Given the description of an element on the screen output the (x, y) to click on. 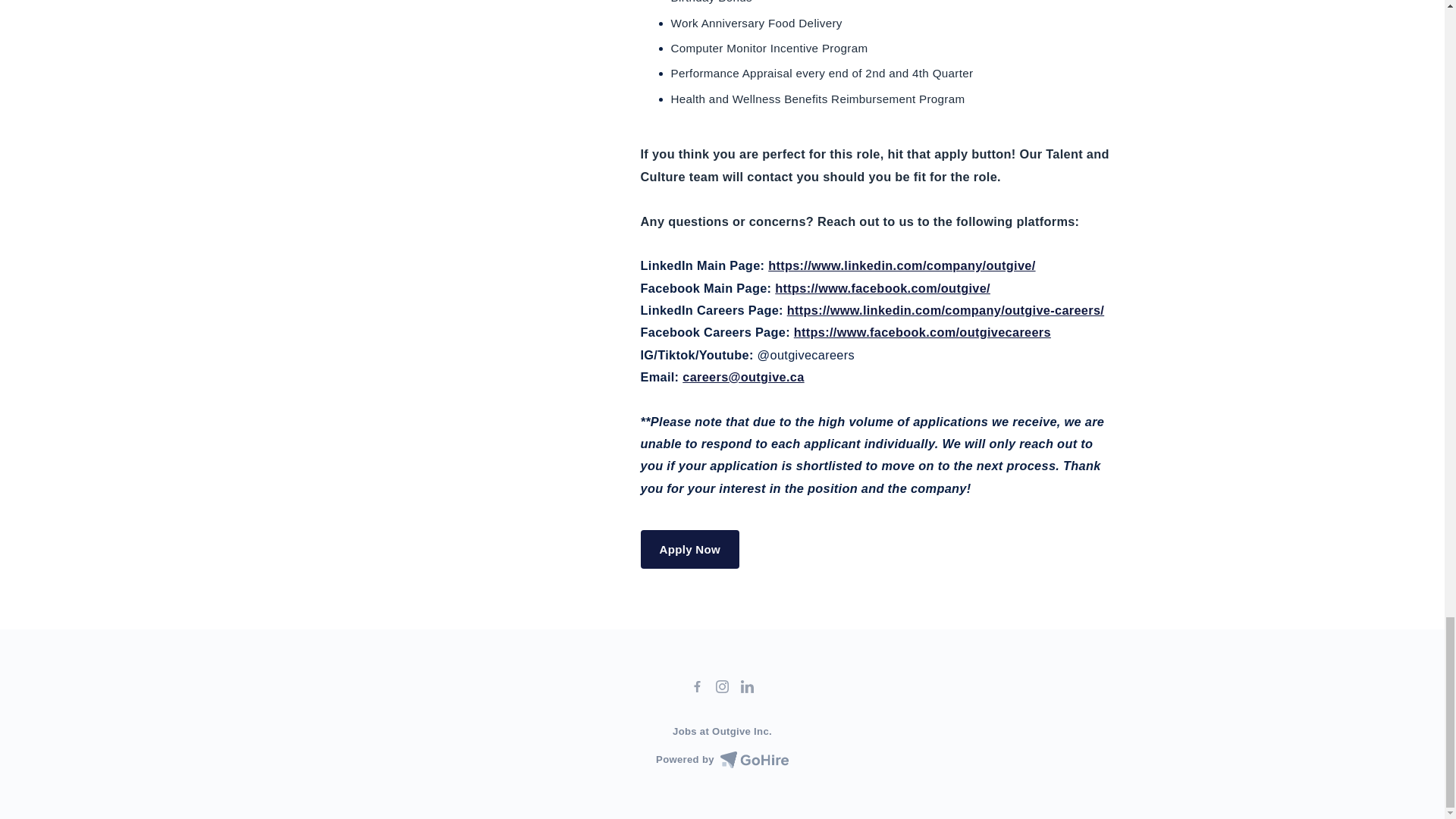
Powered by (722, 759)
Apply Now (689, 548)
